Given the description of an element on the screen output the (x, y) to click on. 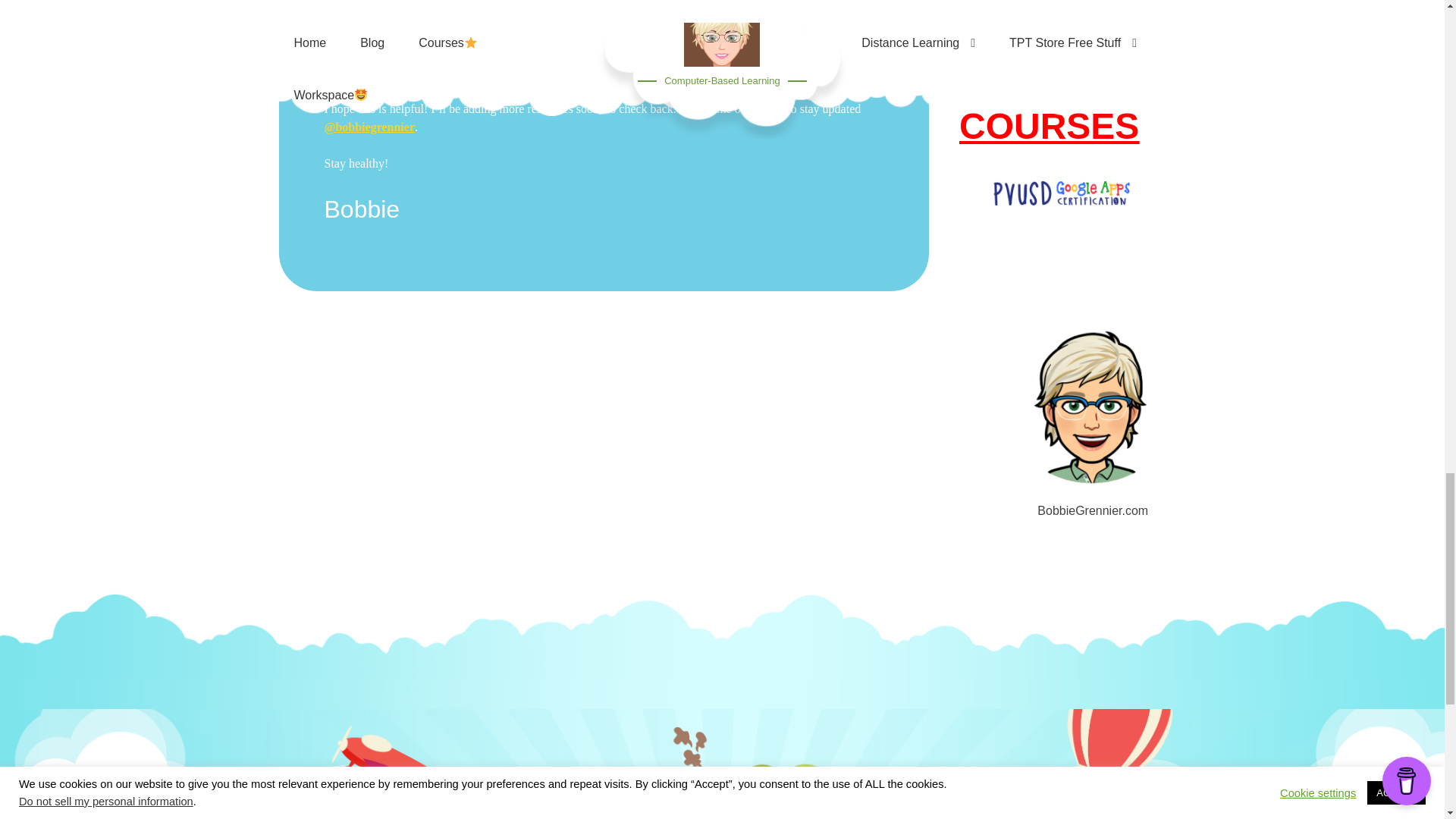
Bobbie Grennier (1093, 389)
